Given the description of an element on the screen output the (x, y) to click on. 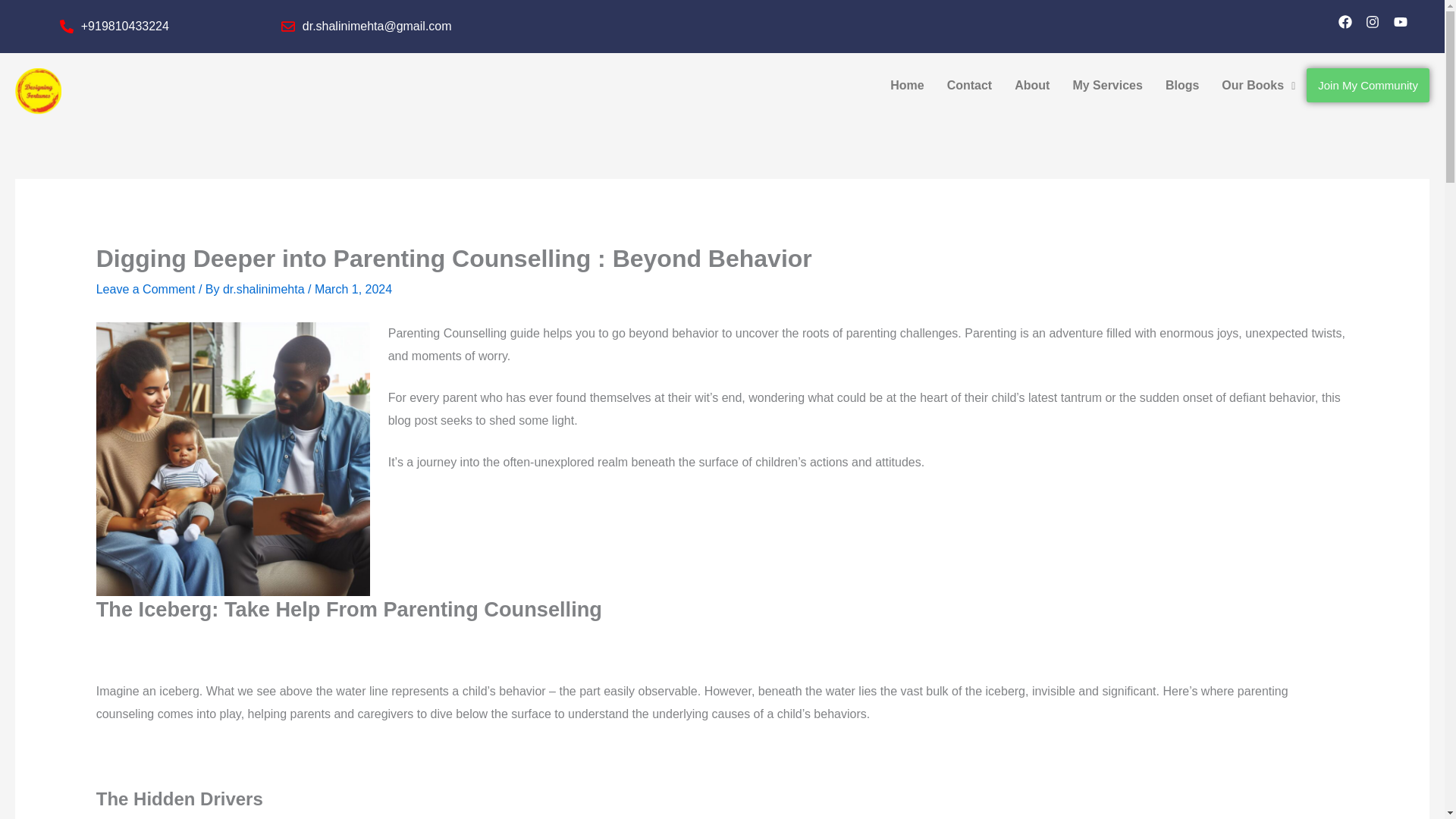
About (1032, 85)
Home (906, 85)
Contact (970, 85)
Youtube (1402, 24)
My Services (1107, 85)
Leave a Comment (145, 288)
Our Books (1257, 85)
Join My Community (1367, 84)
dr.shalinimehta (264, 288)
View all posts by dr.shalinimehta (264, 288)
Facebook (1347, 24)
Instagram (1374, 24)
Blogs (1181, 85)
